Given the description of an element on the screen output the (x, y) to click on. 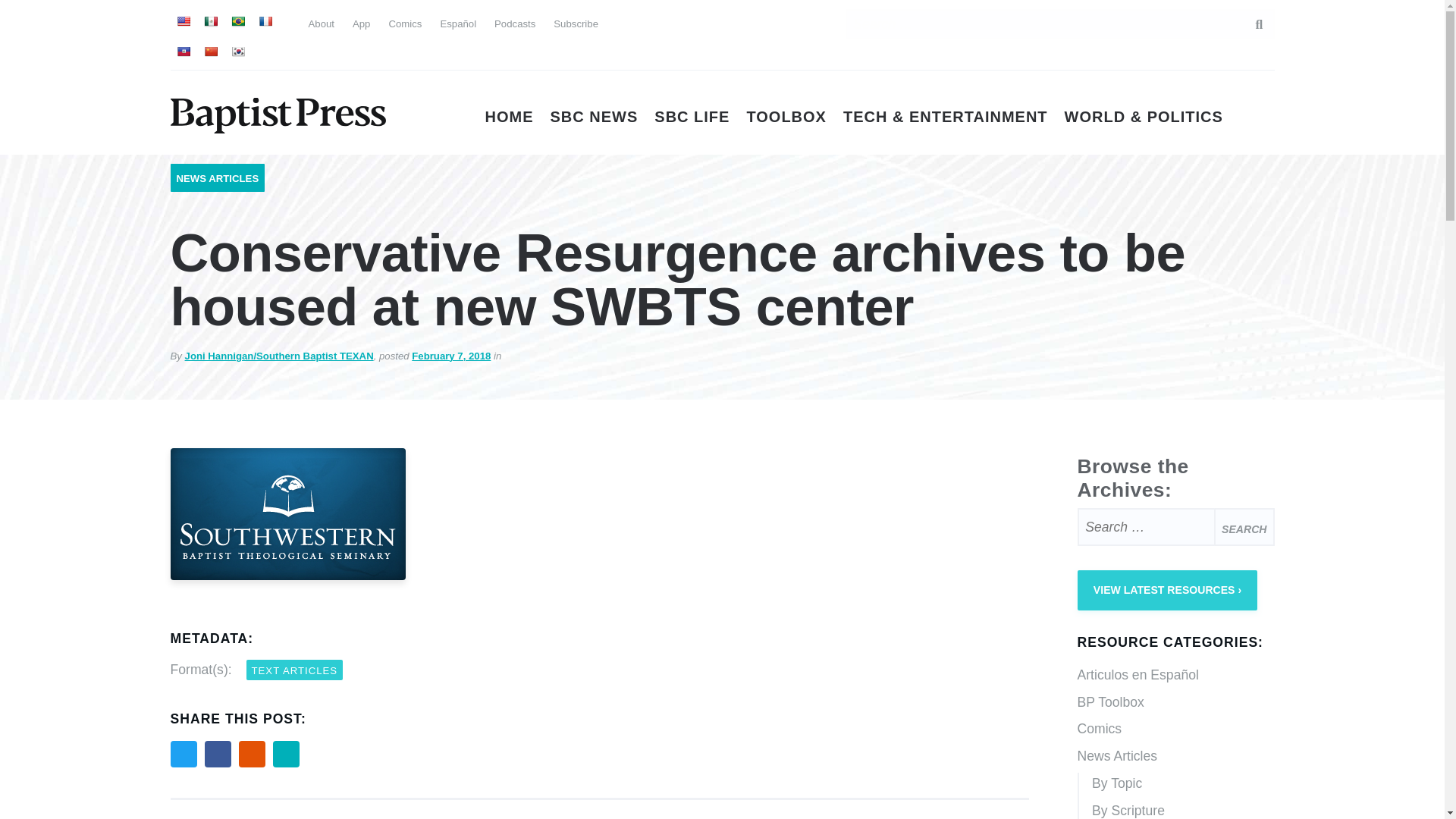
SBC LIFE (691, 116)
SBC NEWS (594, 116)
Haitian (182, 51)
French (263, 21)
NEWS ARTICLES (217, 178)
TOOLBOX (786, 116)
Search (1244, 526)
About (320, 23)
Search (1244, 526)
Korean (237, 51)
TEXT ARTICLES (294, 670)
February 7, 2018 (451, 355)
VIEW LATEST RESOURCES (1167, 590)
HOME (509, 116)
App (360, 23)
